Given the description of an element on the screen output the (x, y) to click on. 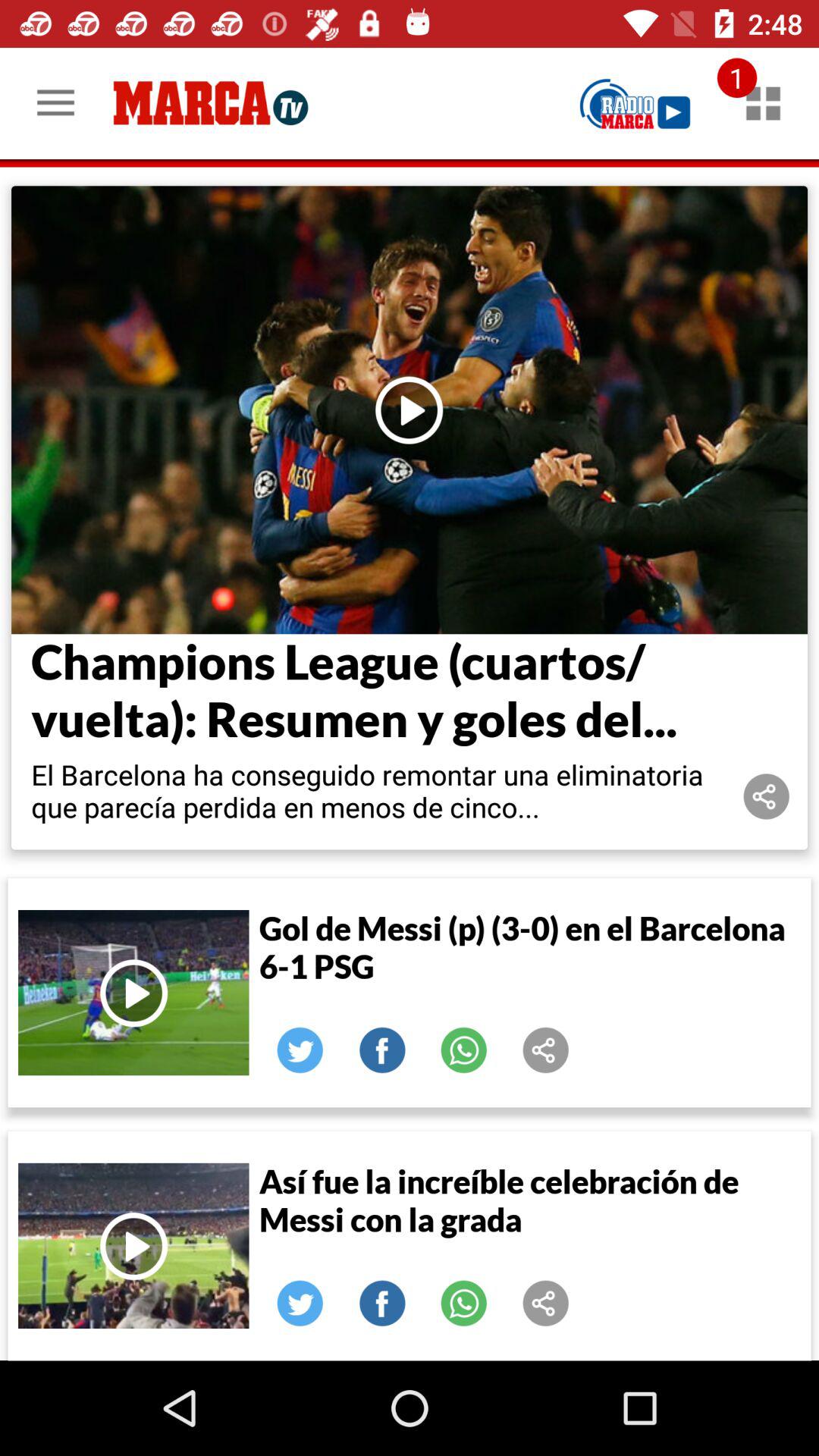
whatsapp (464, 1050)
